Given the description of an element on the screen output the (x, y) to click on. 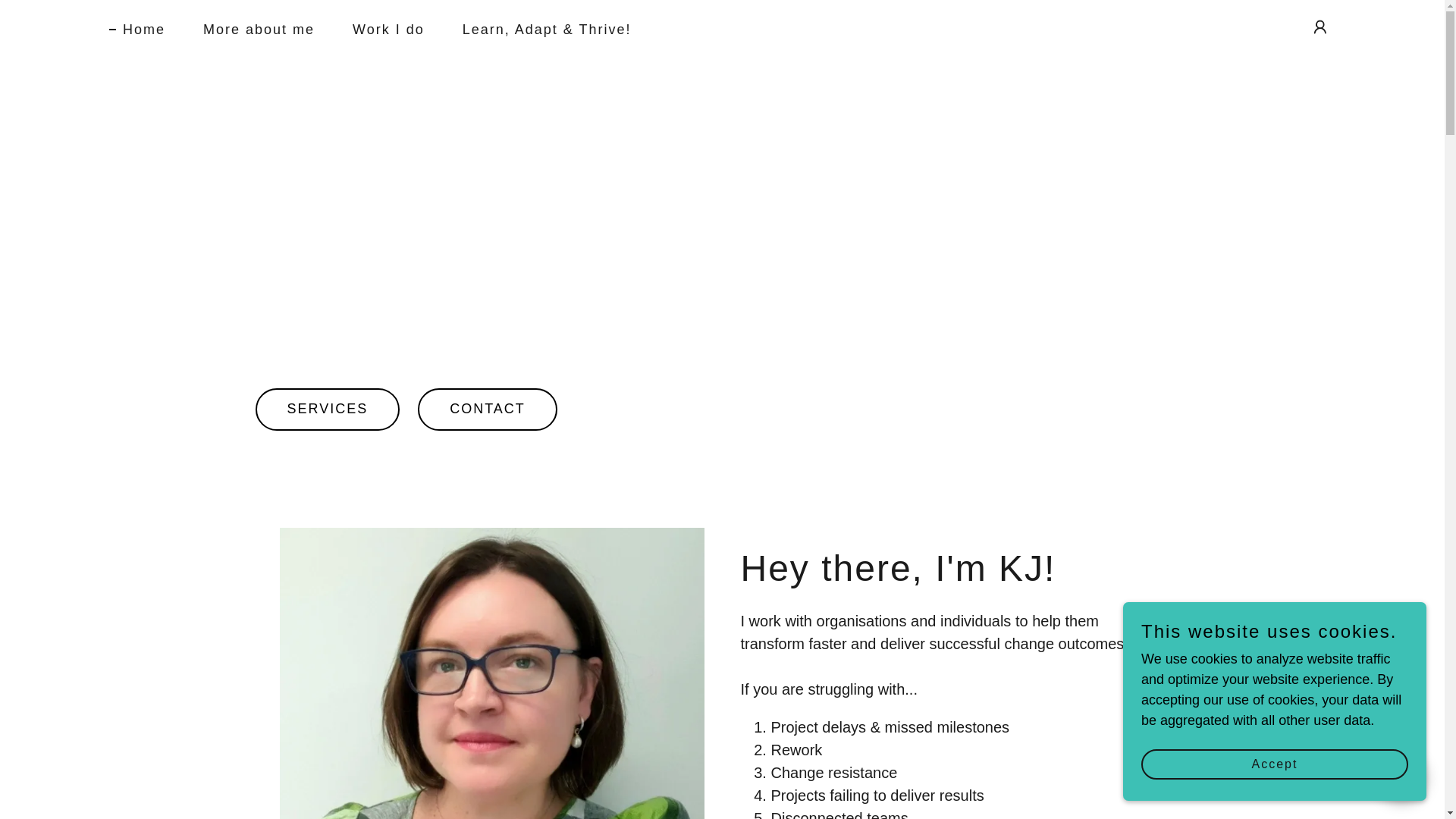
SERVICES (326, 409)
More about me (251, 28)
Home (137, 28)
CONTACT (487, 409)
Work I do (381, 28)
